Given the description of an element on the screen output the (x, y) to click on. 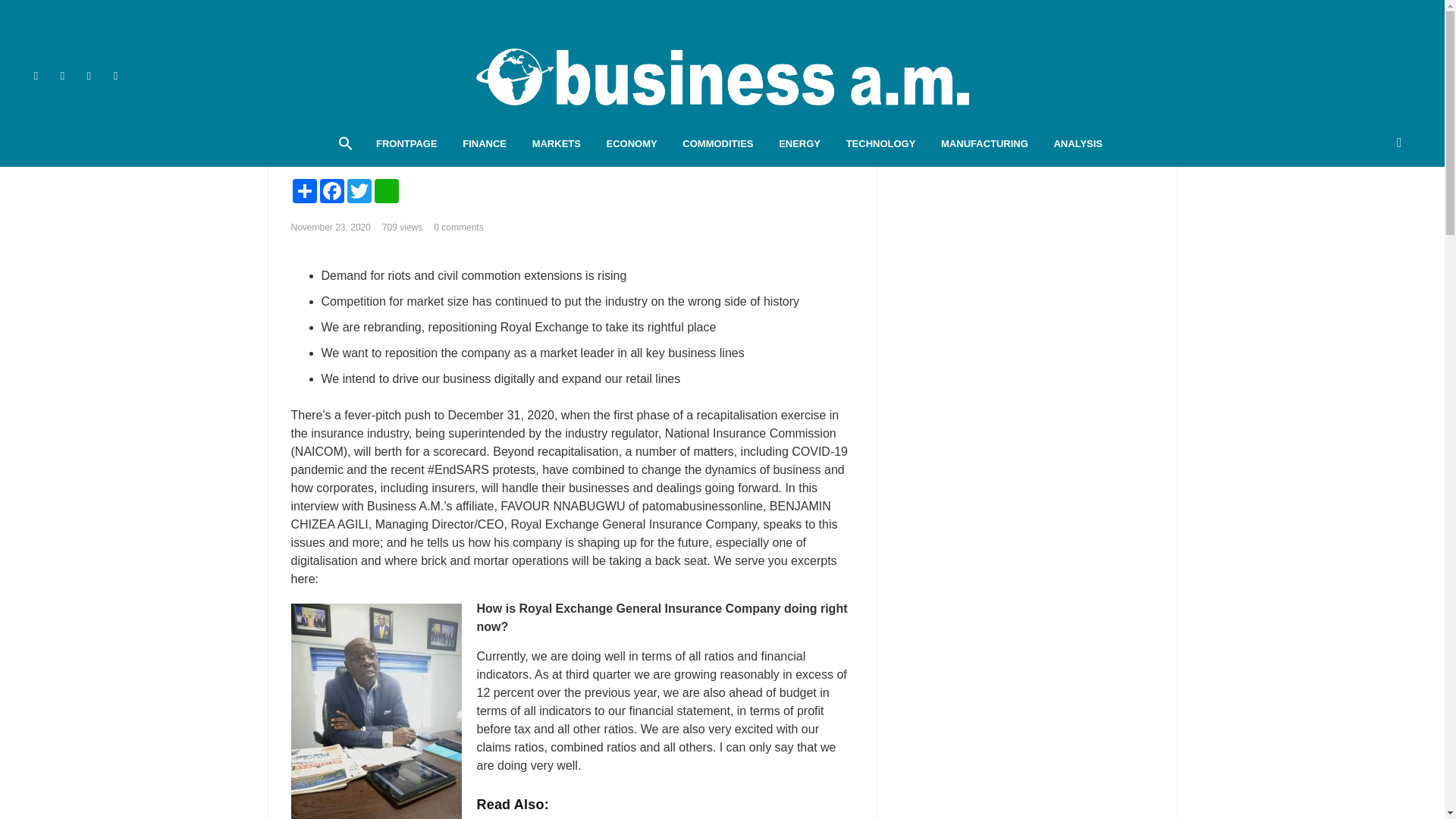
email (115, 75)
Instagram (142, 75)
FINANCE (484, 144)
youtube (88, 75)
FRONTPAGE (406, 144)
facebook (36, 75)
twitter (62, 75)
Businessamlive (722, 76)
